Given the description of an element on the screen output the (x, y) to click on. 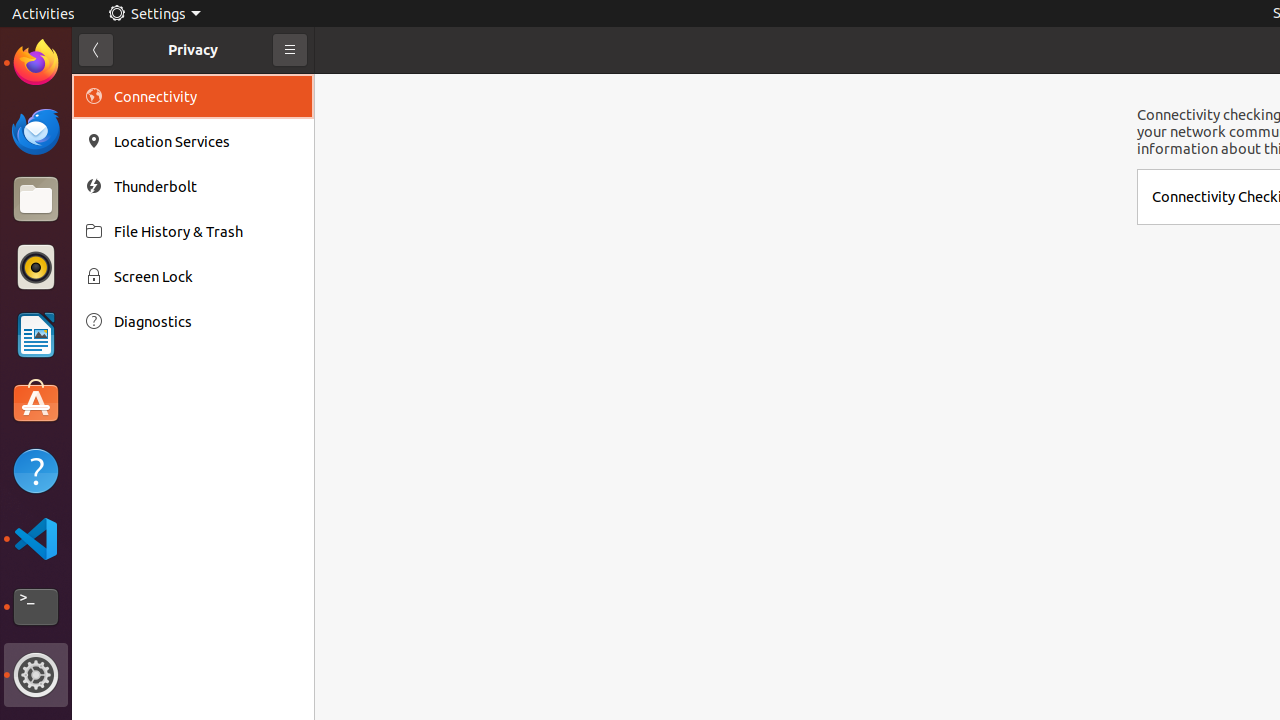
IsaHelpMain.desktop Element type: label (133, 300)
Thunderbolt Element type: label (207, 186)
Privacy Element type: label (193, 49)
Screen Lock Element type: label (207, 276)
